Given the description of an element on the screen output the (x, y) to click on. 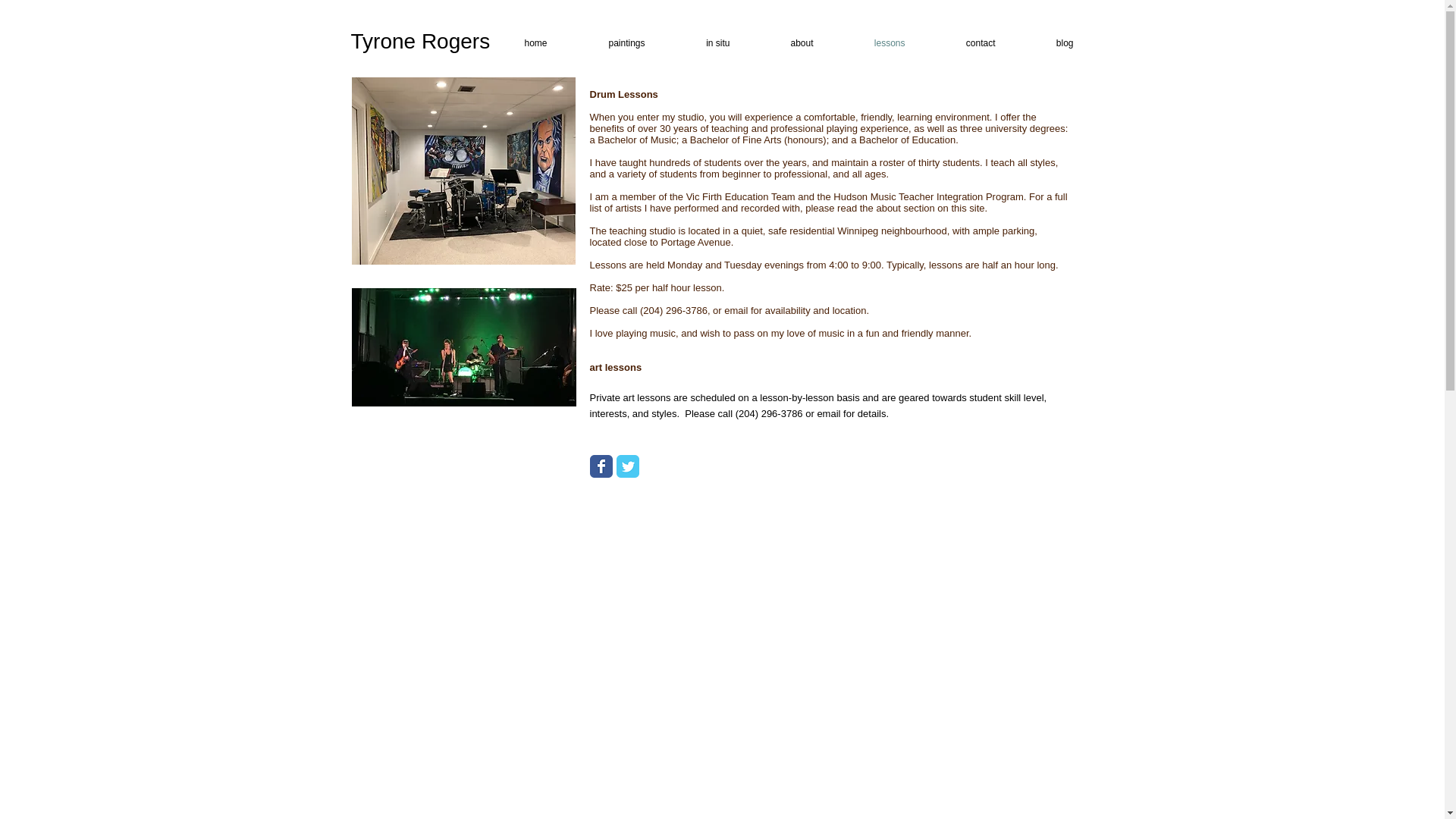
lessons (872, 43)
paintings (608, 43)
in situ (700, 43)
email (828, 413)
email (735, 310)
studio1.jpg (463, 170)
about (784, 43)
blog (1047, 43)
contact (962, 43)
home (518, 43)
